Given the description of an element on the screen output the (x, y) to click on. 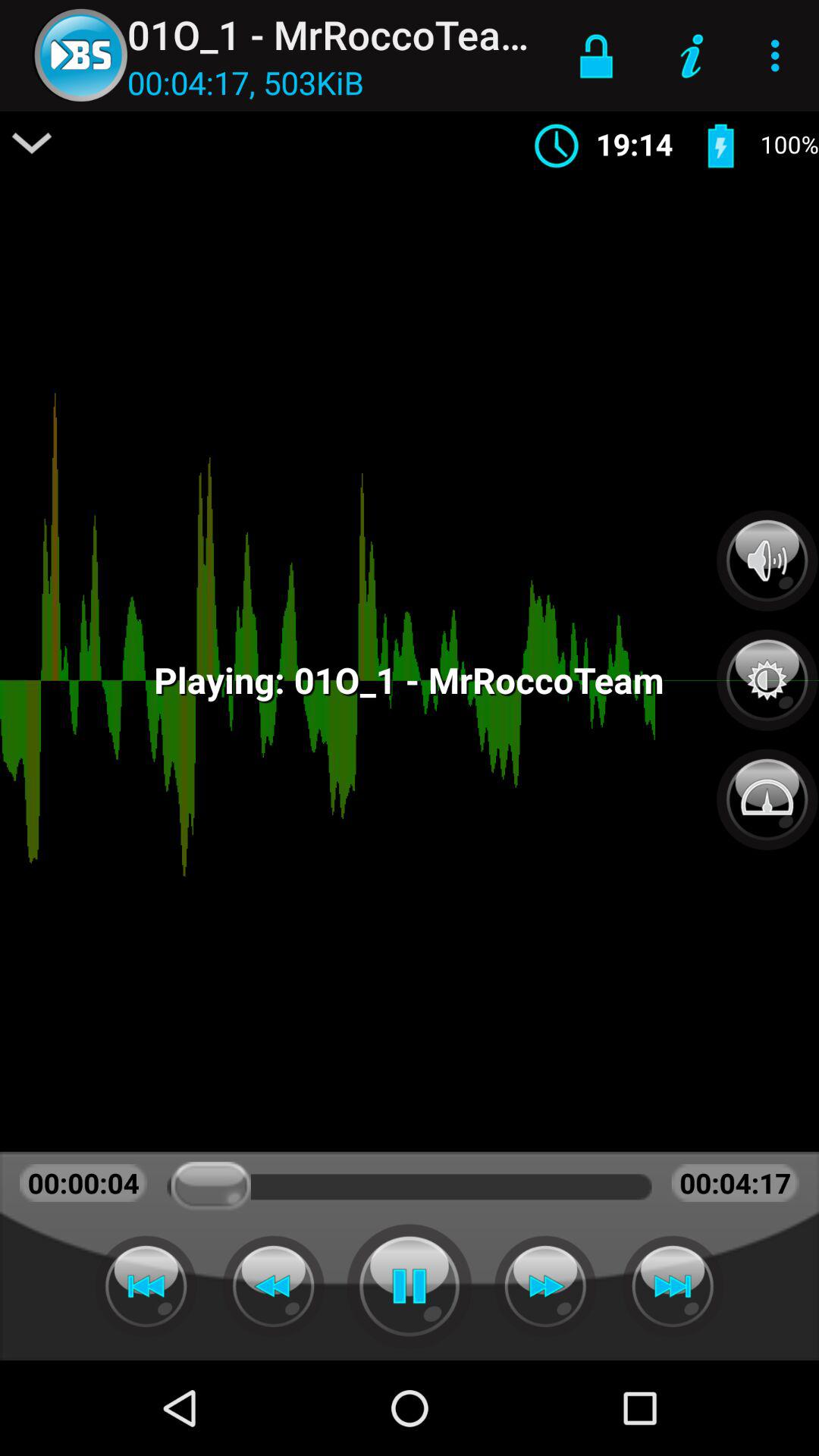
backward the audio (273, 1286)
